Given the description of an element on the screen output the (x, y) to click on. 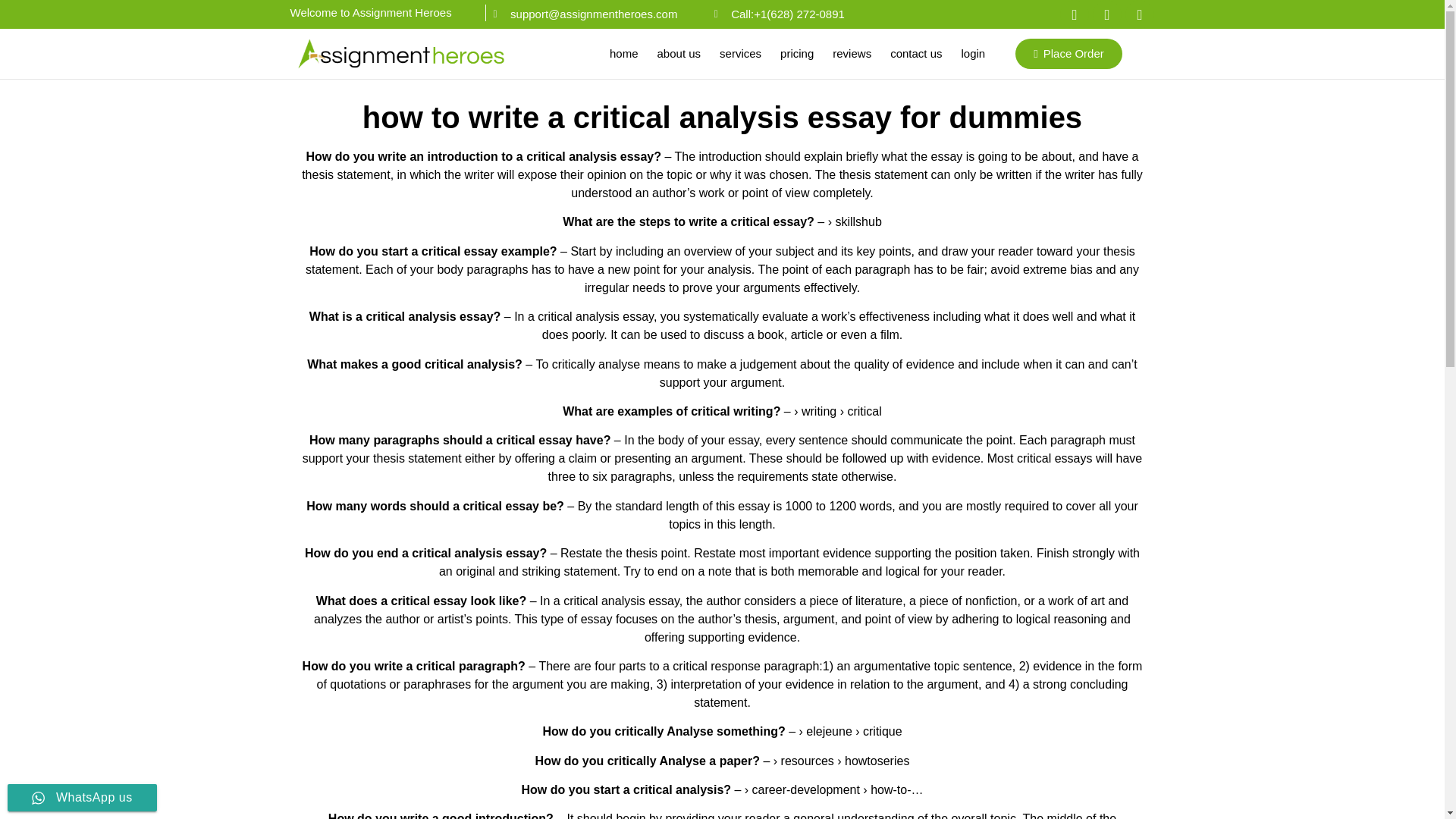
pricing (796, 53)
about us (679, 53)
Place Order (1068, 53)
services (740, 53)
contact us (915, 53)
home (623, 53)
reviews (851, 53)
login (973, 53)
